Given the description of an element on the screen output the (x, y) to click on. 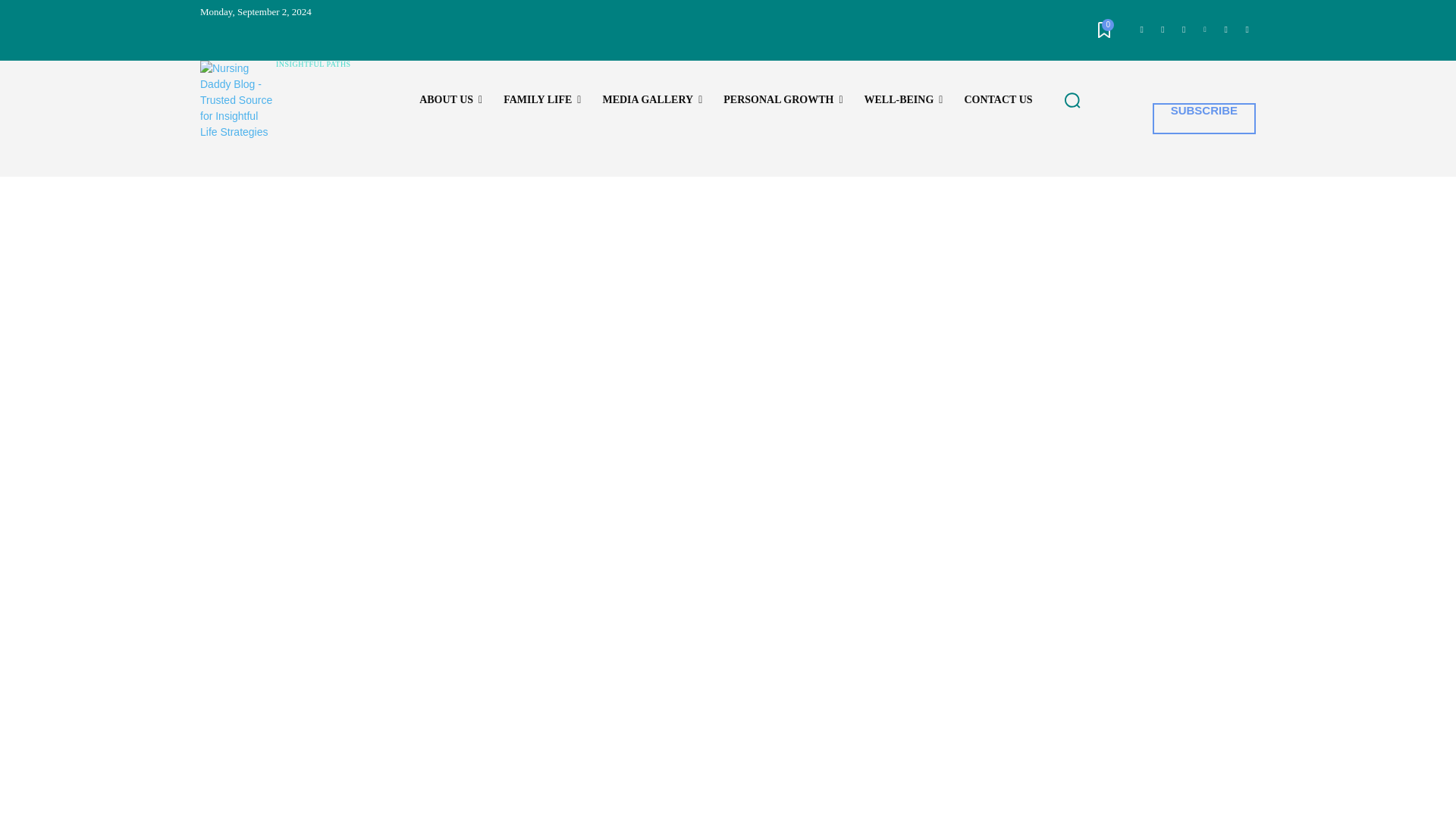
Twitter (1183, 29)
Facebook (1141, 29)
Instagram (1163, 29)
